Given the description of an element on the screen output the (x, y) to click on. 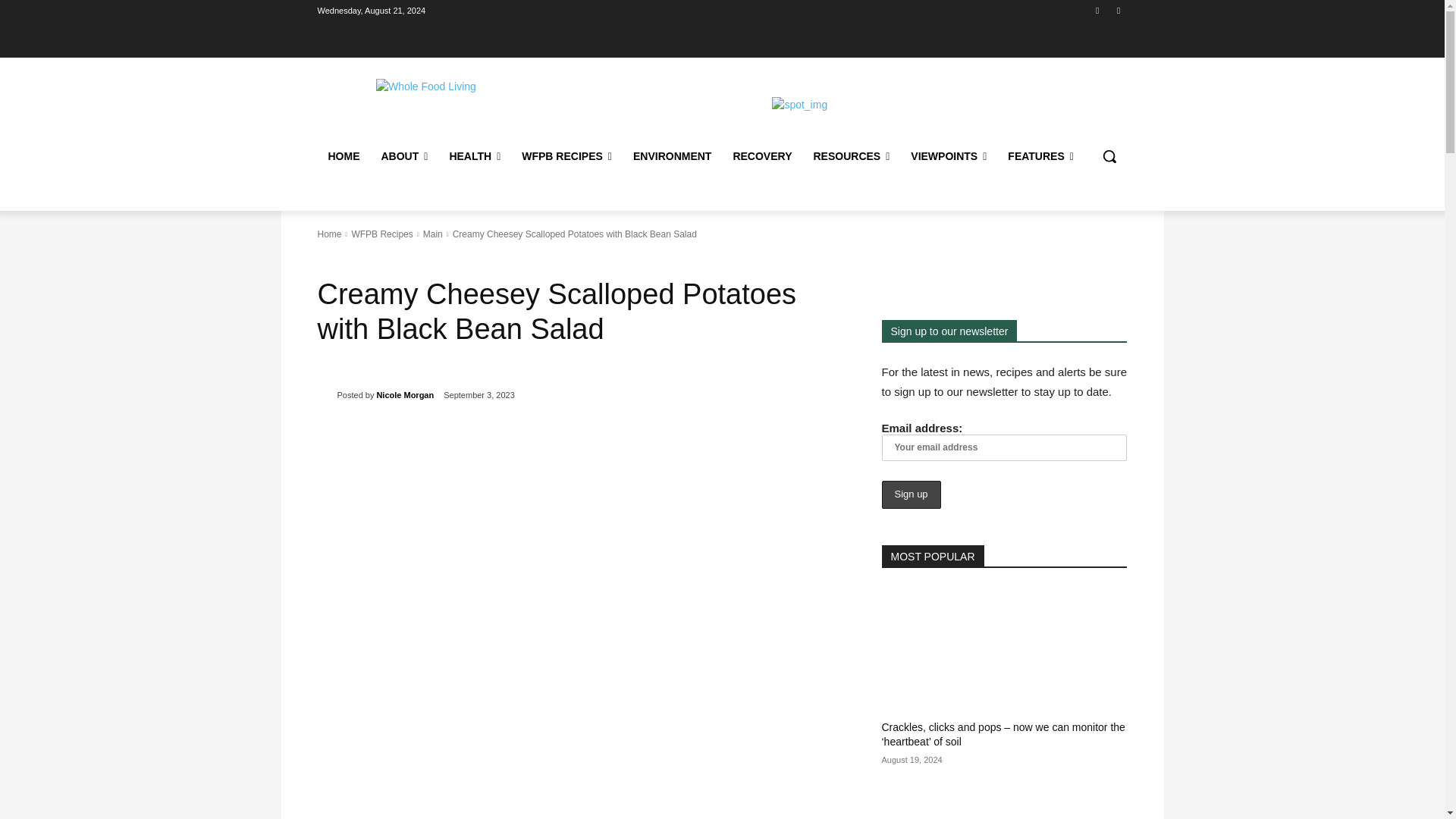
Sign up (910, 494)
Instagram (1117, 9)
Facebook (1097, 9)
